Given the description of an element on the screen output the (x, y) to click on. 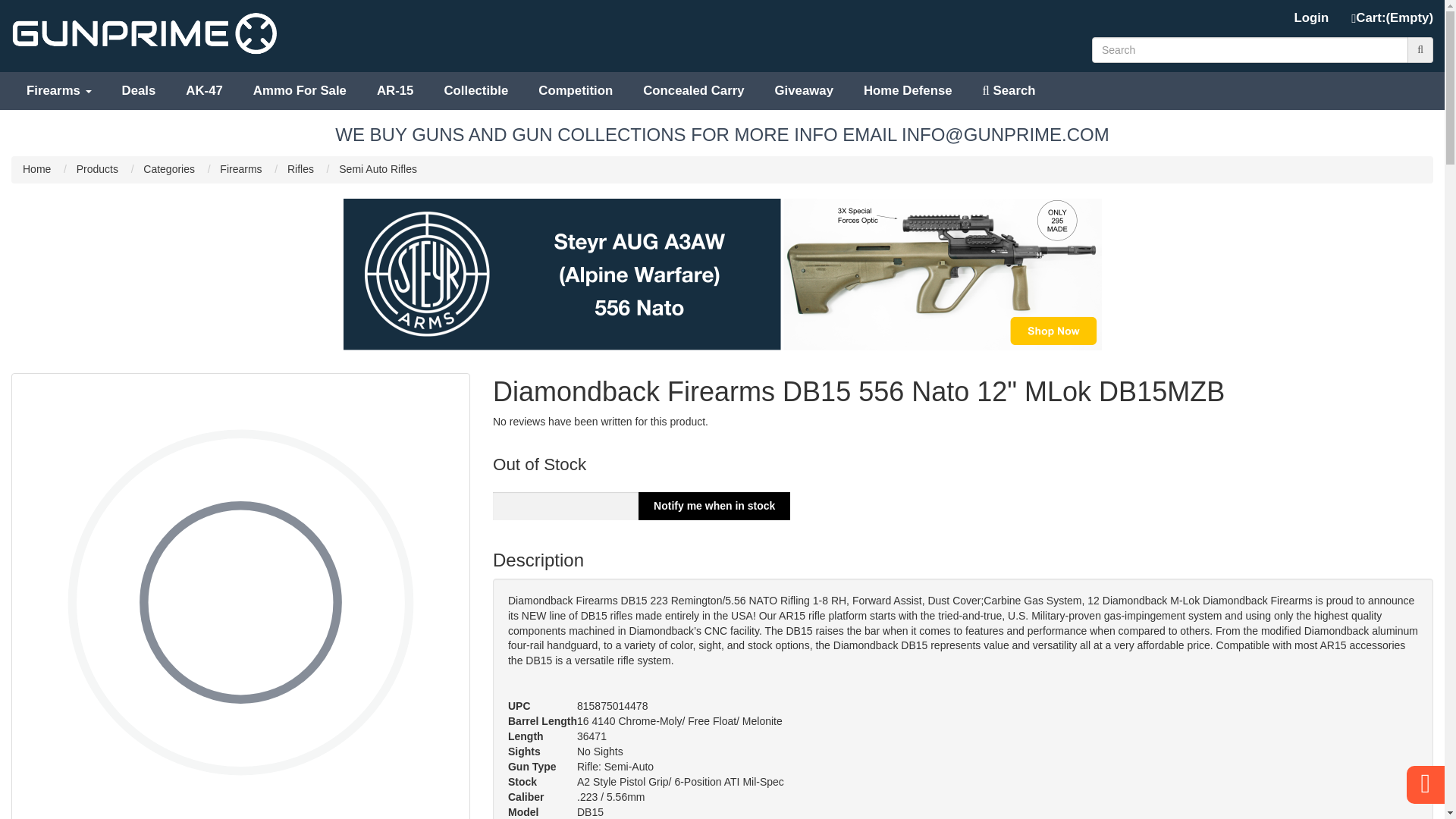
AK-47 (204, 90)
Deals (138, 90)
Ammo For Sale (299, 90)
Giveaway (804, 90)
AR-15 (395, 90)
Home Defense (908, 90)
Competition (574, 90)
Concealed Carry (692, 90)
Collectible (475, 90)
Notify me when in stock (714, 506)
Login (1311, 17)
Search (1009, 90)
Firearms (58, 90)
